Given the description of an element on the screen output the (x, y) to click on. 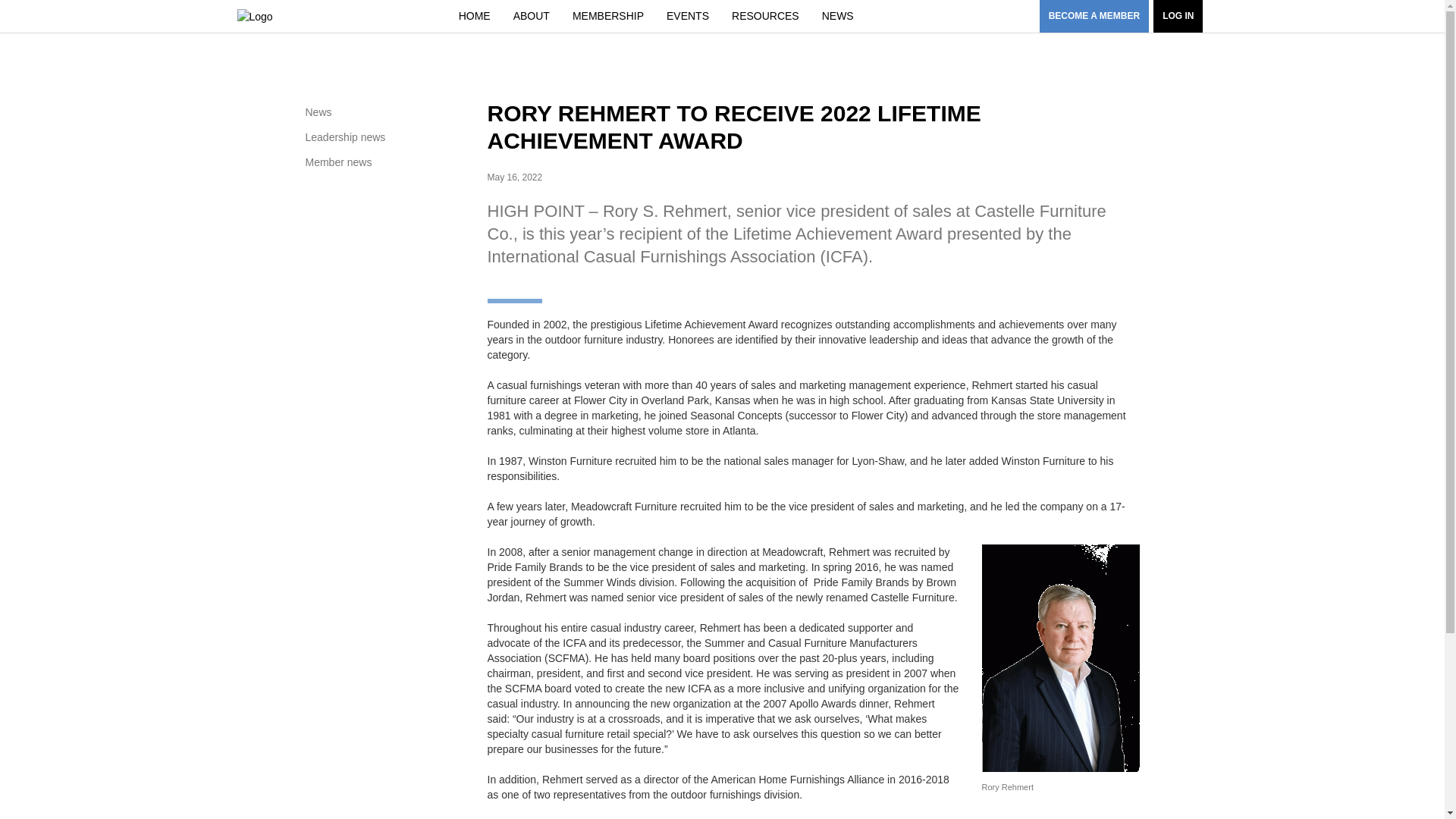
Membership (607, 16)
Member news (387, 162)
LOG IN (1177, 16)
Resources (765, 16)
NEWS (837, 16)
Leadership news (387, 137)
News (387, 112)
BECOME A MEMBER (1093, 16)
ABOUT (531, 16)
Events (687, 16)
